Given the description of an element on the screen output the (x, y) to click on. 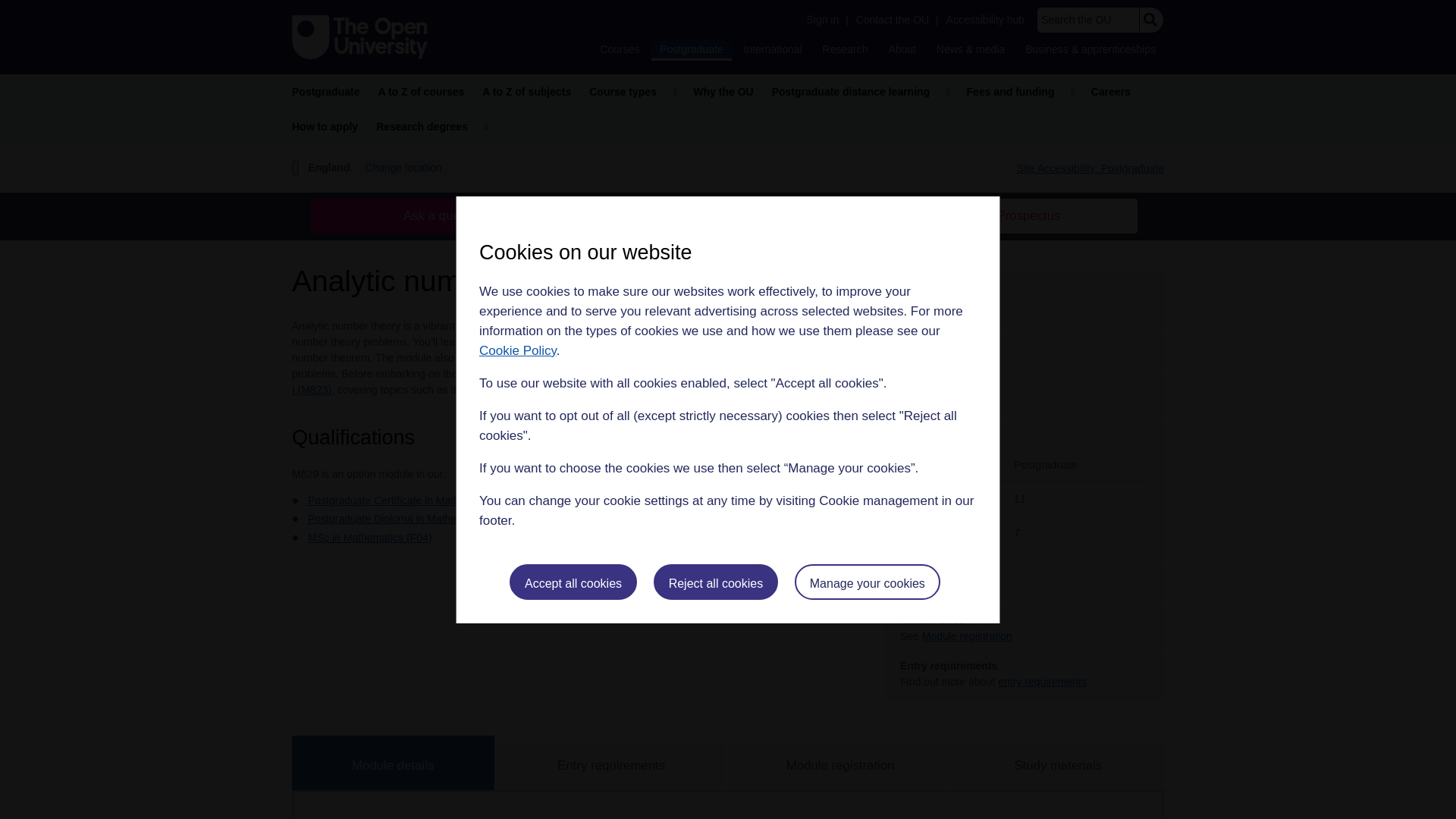
Reject all cookies (715, 581)
Cookie Policy (517, 350)
Save location (532, 520)
About (901, 49)
Contact the OU (892, 19)
Show credits help (949, 386)
Research (844, 49)
Accessibility hub (985, 19)
Courses (619, 49)
